Given the description of an element on the screen output the (x, y) to click on. 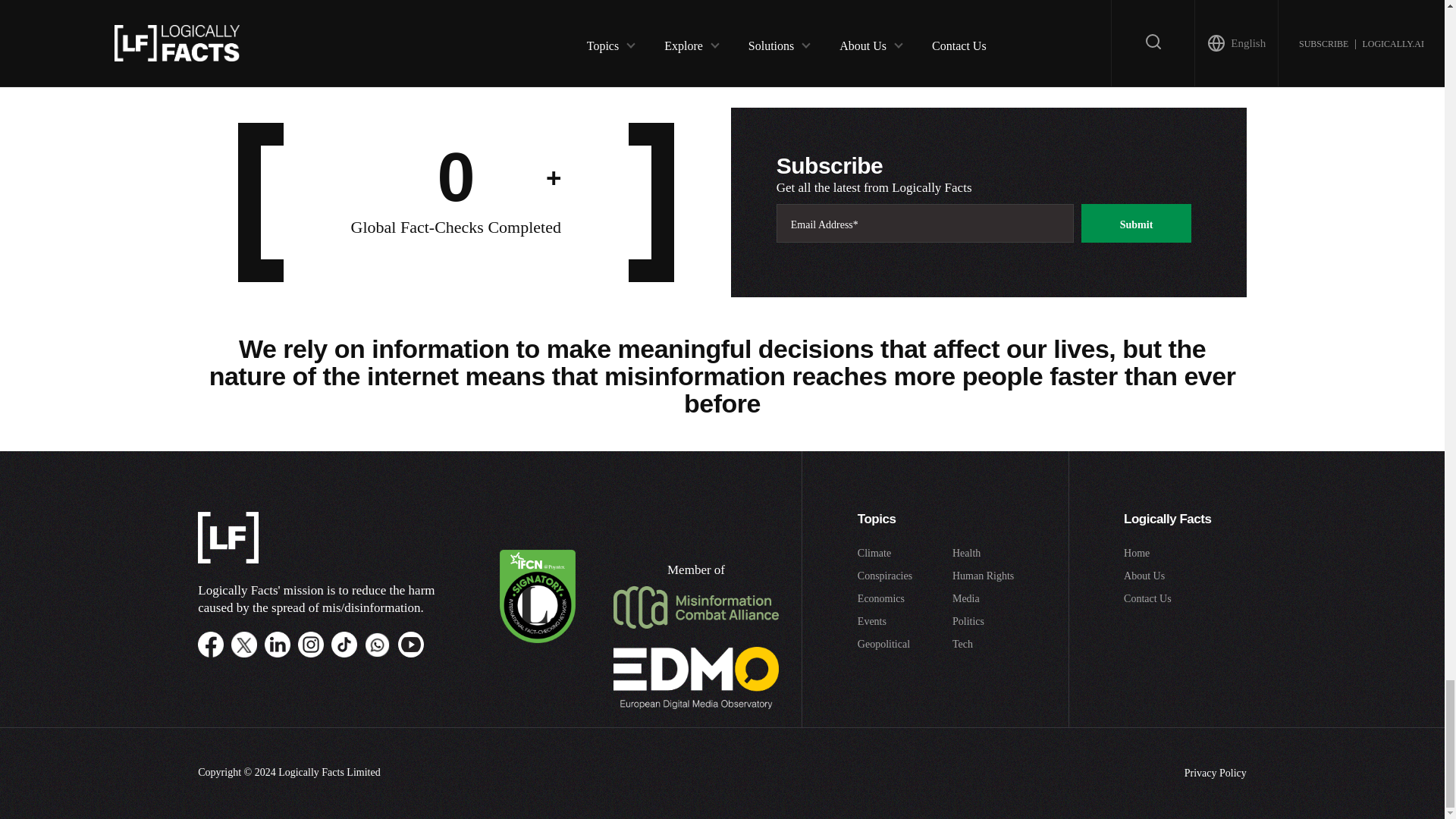
Submit (1136, 222)
IFCN signatory (537, 639)
Submit (588, 10)
